Given the description of an element on the screen output the (x, y) to click on. 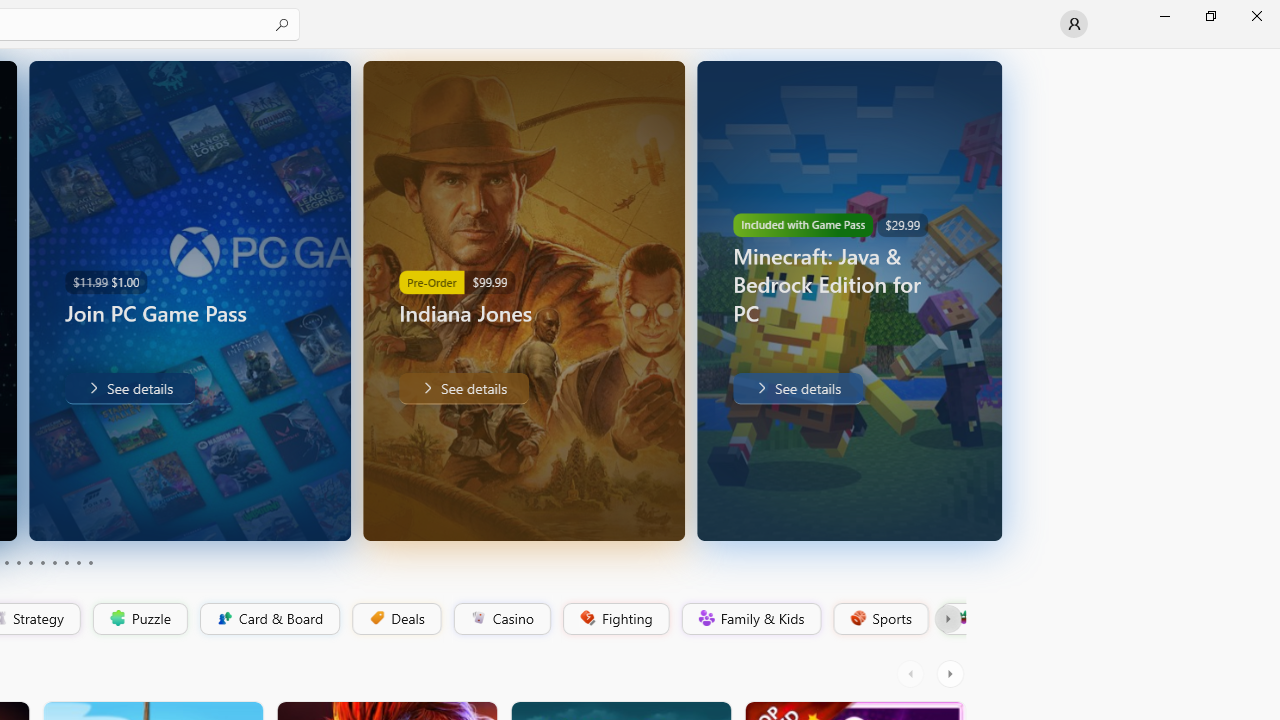
AutomationID: Image (989, 300)
Restore Microsoft Store (1210, 15)
Class: Button (947, 619)
Page 5 (29, 562)
Page 4 (17, 562)
Minimize Microsoft Store (1164, 15)
AutomationID: RightScrollButton (952, 673)
AutomationID: LeftScrollButton (913, 673)
User profile (1073, 24)
Close Microsoft Store (1256, 15)
Sports (879, 619)
Family & Kids (750, 619)
Page 10 (90, 562)
